Given the description of an element on the screen output the (x, y) to click on. 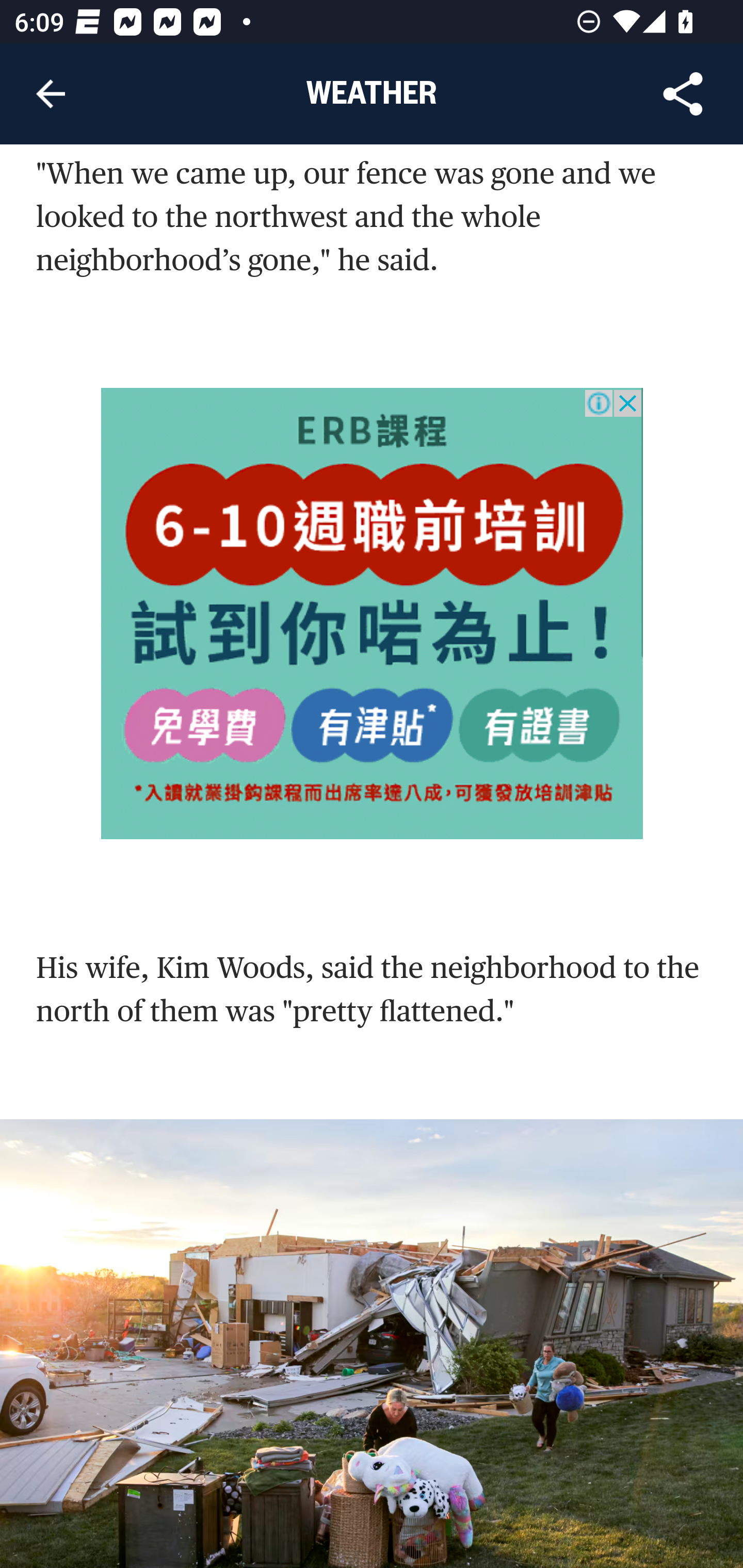
Navigate up (50, 93)
Share Article, button (683, 94)
course_content_main_ERB (372, 614)
